Given the description of an element on the screen output the (x, y) to click on. 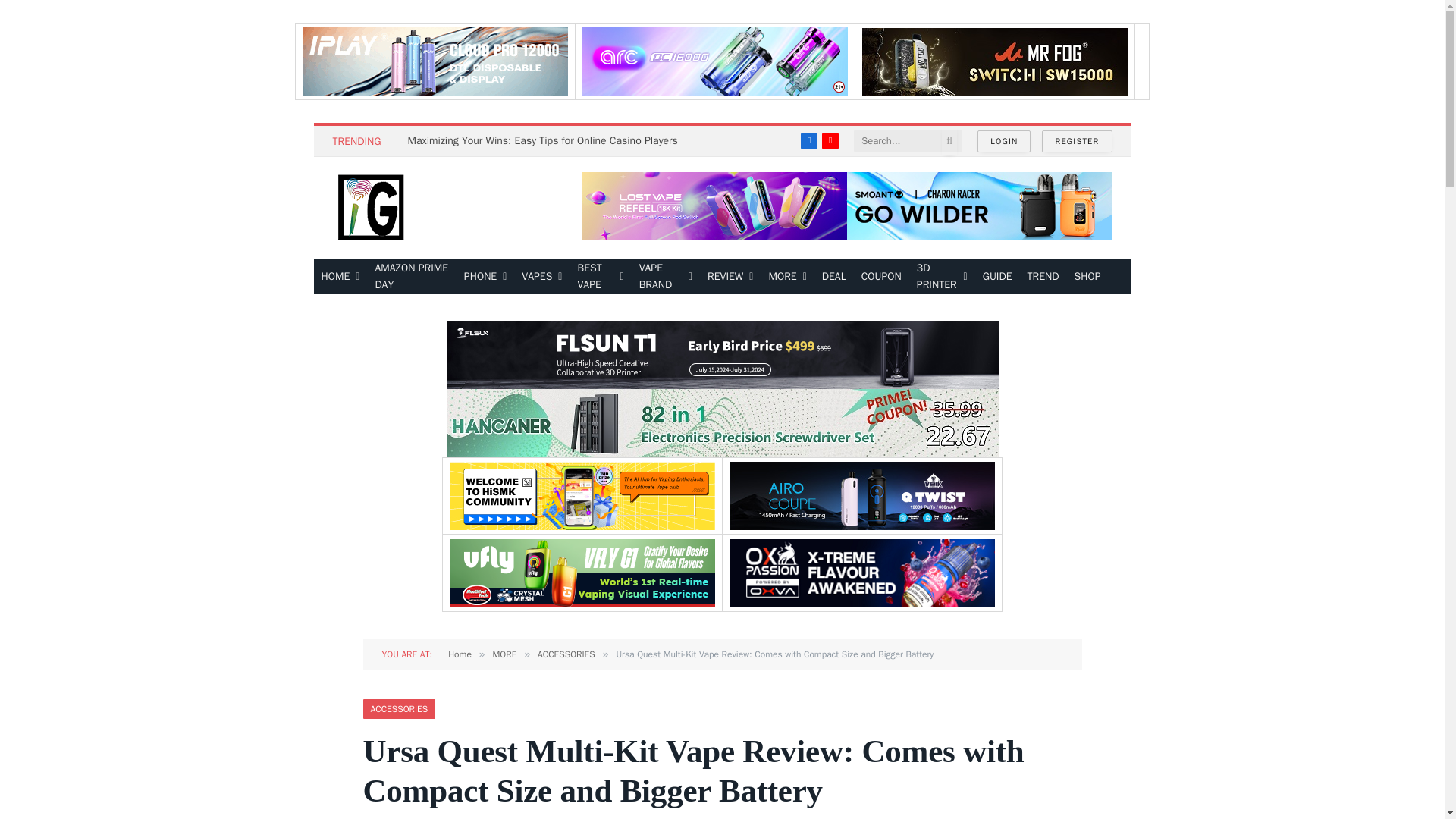
PHONE (485, 276)
AMAZON PRIME DAY (410, 276)
HOME (341, 276)
Facebook (808, 140)
REGISTER (1077, 141)
YouTube (830, 140)
LOGIN (1003, 141)
Maximizing Your Wins: Easy Tips for Online Casino Players (546, 141)
